Given the description of an element on the screen output the (x, y) to click on. 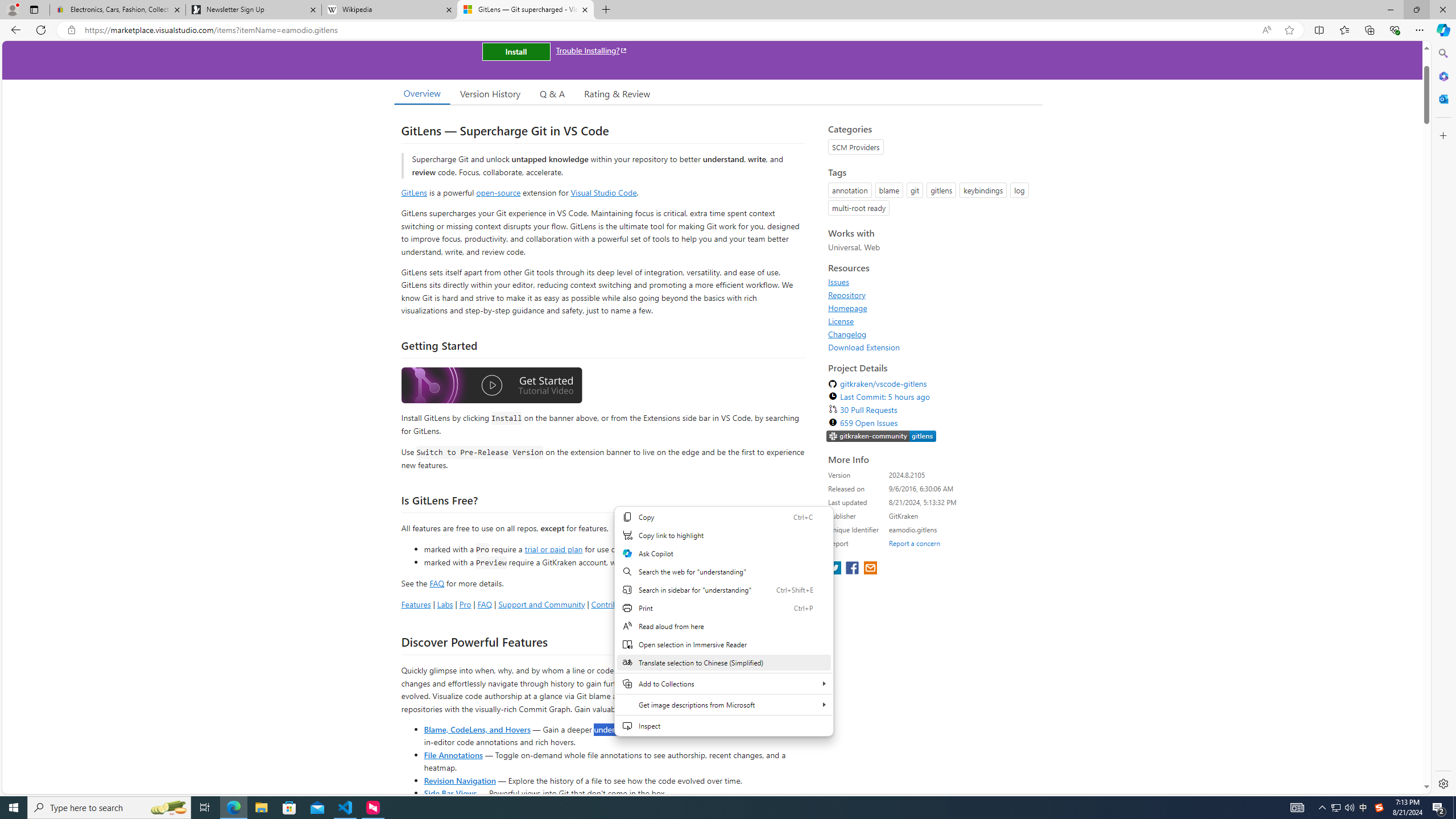
License (931, 320)
Watch the GitLens Getting Started video (491, 385)
Add to Collections (723, 683)
Issues (838, 281)
Report a concern (914, 542)
share extension on email (869, 568)
